Given the description of an element on the screen output the (x, y) to click on. 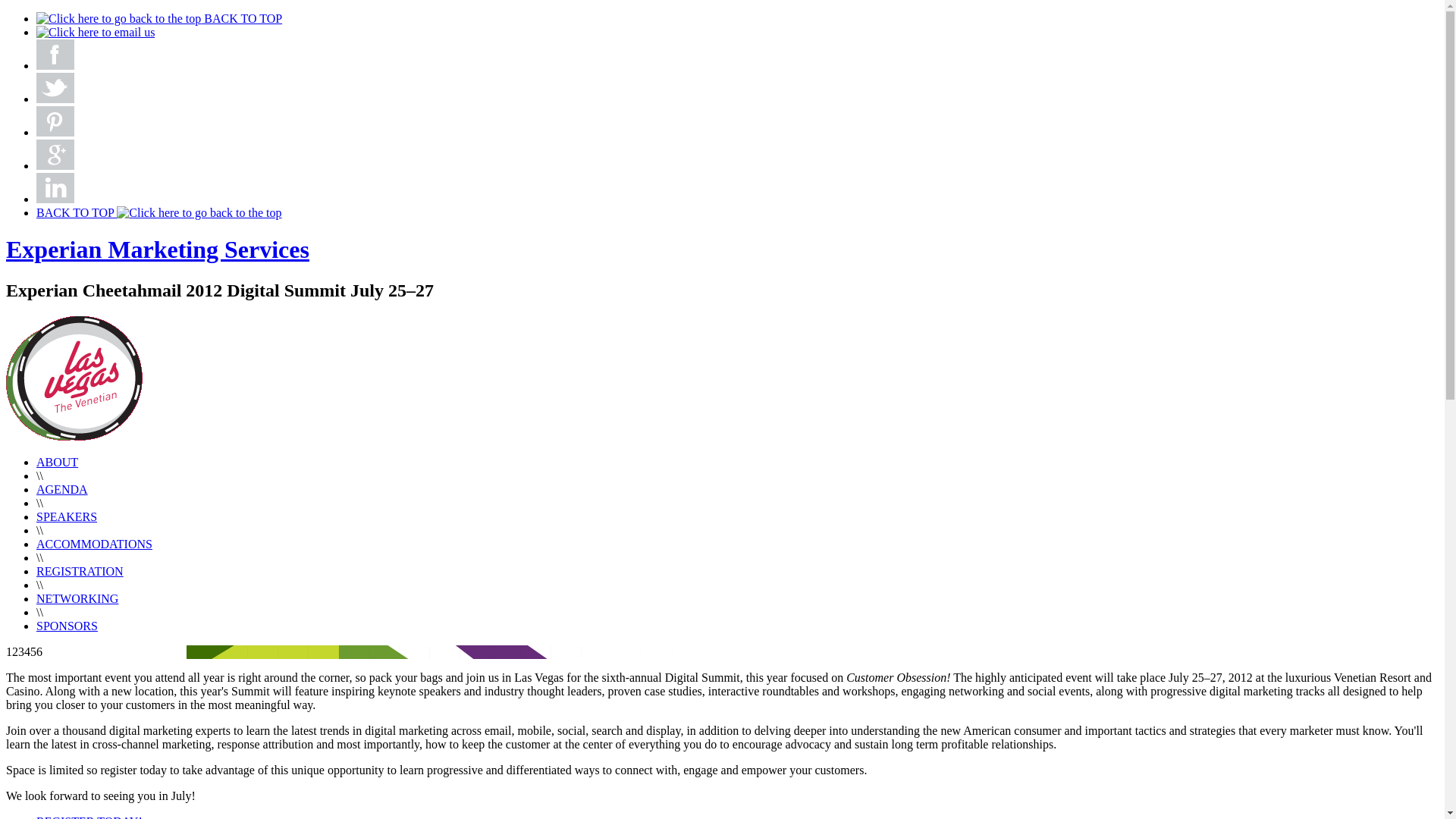
Click here to go back to the top Element type: hover (198, 212)
6 Element type: text (39, 651)
1 Element type: text (9, 651)
ACCOMMODATIONS Element type: text (94, 543)
5 Element type: text (33, 651)
AGENDA Element type: text (61, 489)
SPONSORS Element type: text (66, 625)
4 Element type: text (27, 651)
REGISTRATION Element type: text (79, 570)
NETWORKING Element type: text (77, 598)
Click here to go back to the top Element type: hover (118, 18)
Experian Marketing Services Element type: text (157, 249)
2 Element type: text (15, 651)
SPEAKERS Element type: text (66, 516)
BACK TO TOP Element type: text (159, 18)
BACK TO TOP Element type: text (159, 212)
ABOUT Element type: text (57, 461)
3 Element type: text (21, 651)
